Given the description of an element on the screen output the (x, y) to click on. 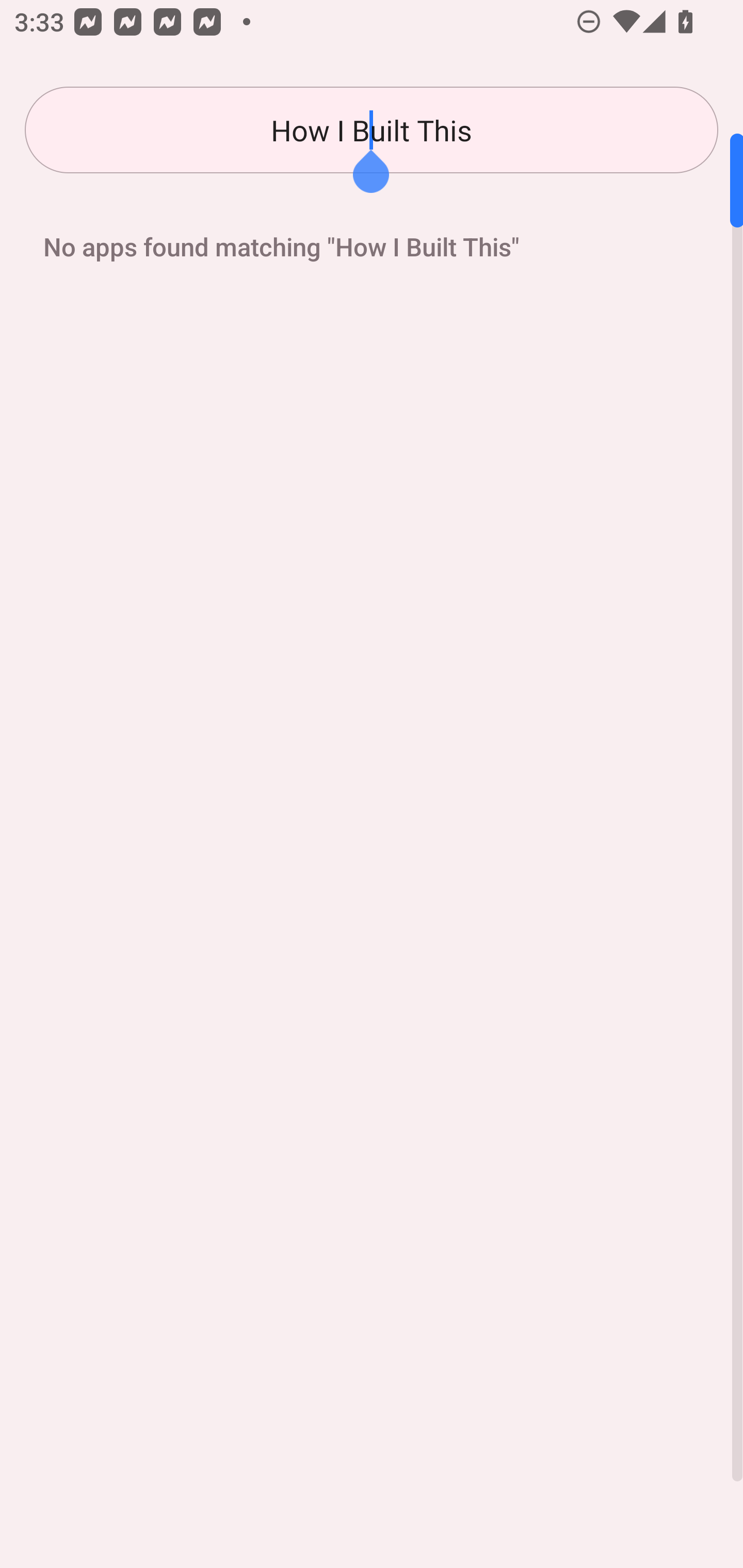
How I Built This (371, 130)
